Given the description of an element on the screen output the (x, y) to click on. 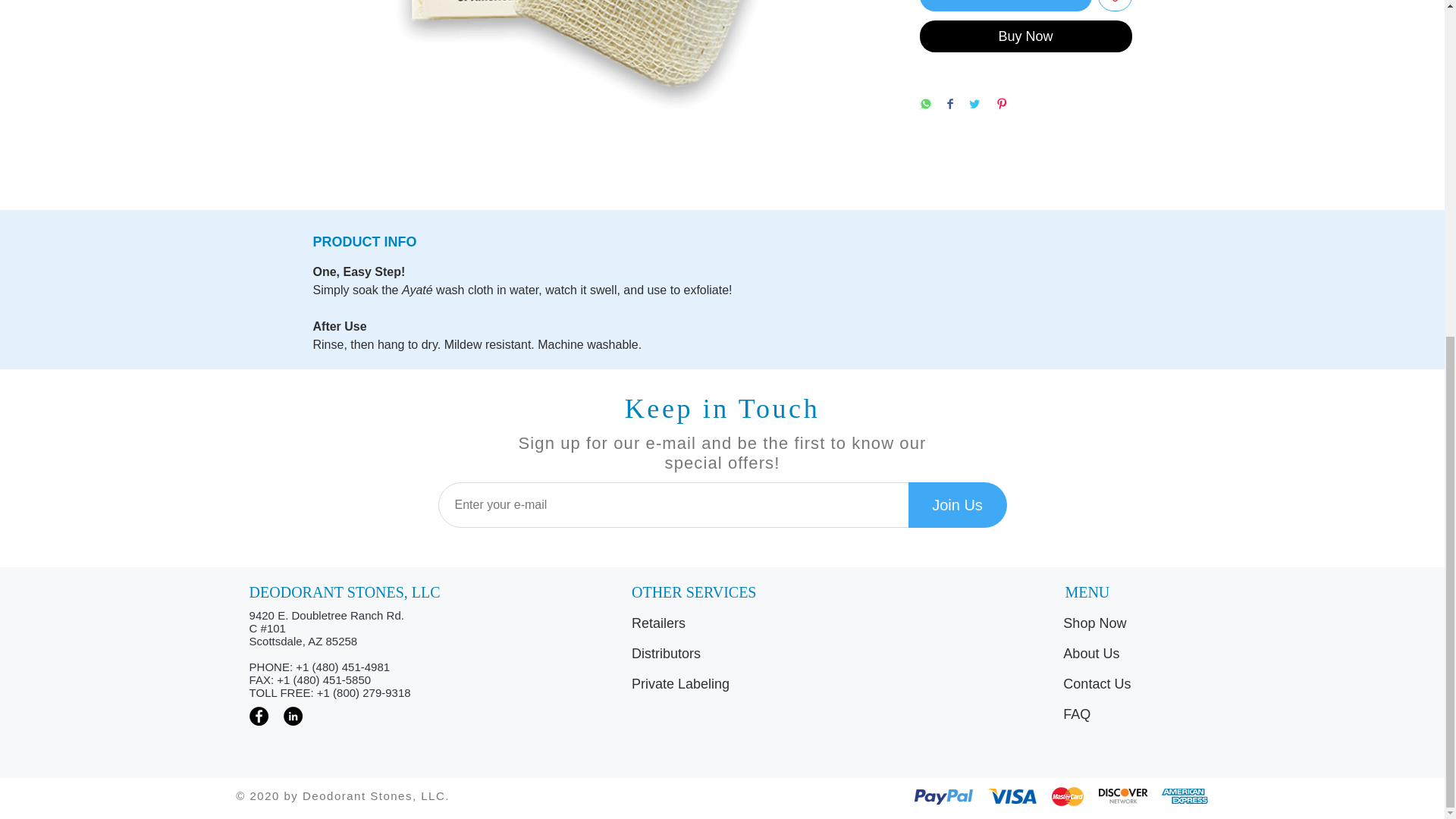
Join Us (957, 504)
Distributors (723, 654)
Contact Us (1135, 684)
Add to Cart (1004, 5)
FAQ (1135, 715)
Retailers (723, 624)
Private Labeling (723, 684)
Buy Now (1024, 36)
About Us (1135, 654)
Shop Now (1135, 624)
